Given the description of an element on the screen output the (x, y) to click on. 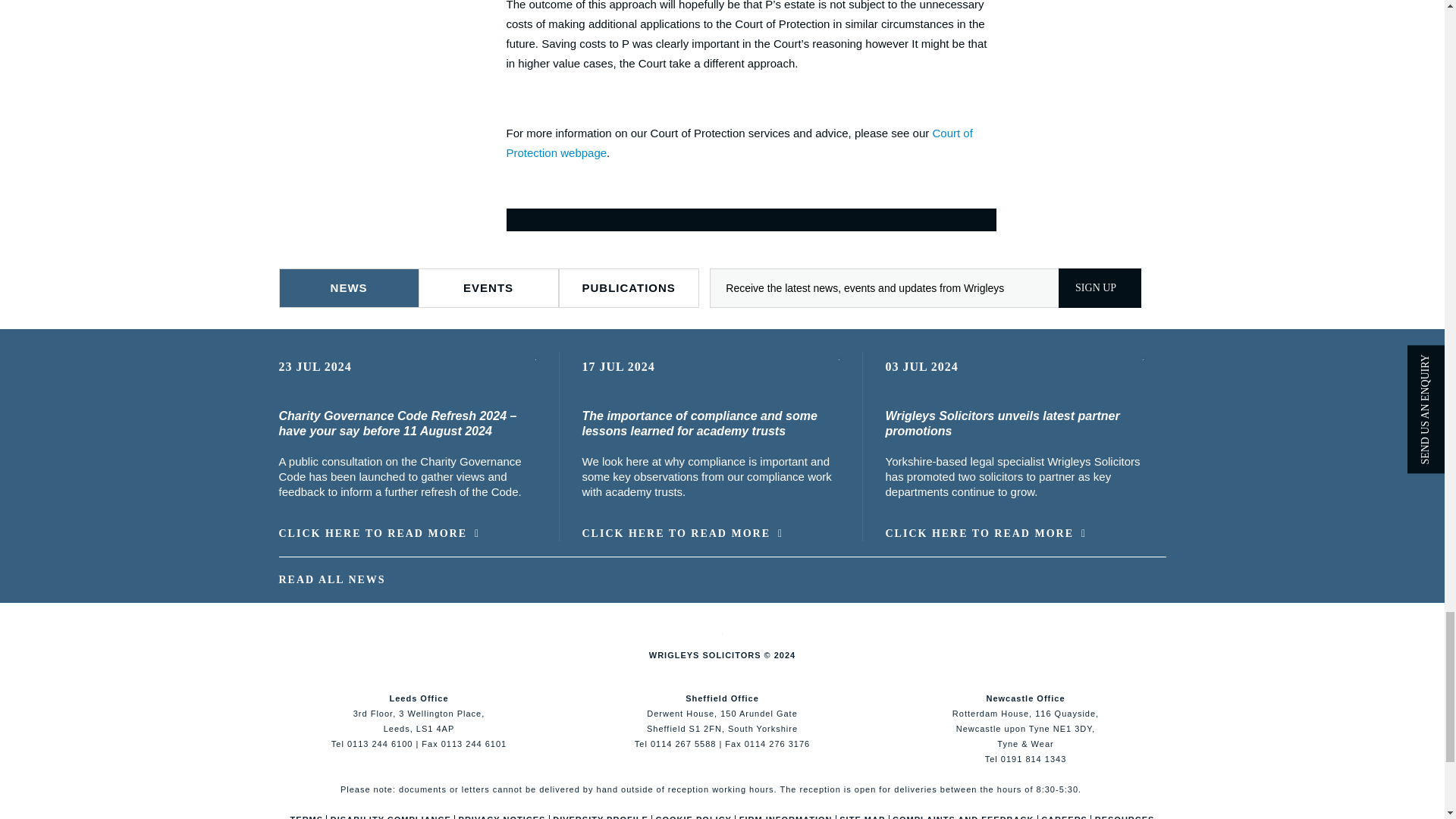
Court of Protection webpage (739, 142)
on (518, 215)
